Given the description of an element on the screen output the (x, y) to click on. 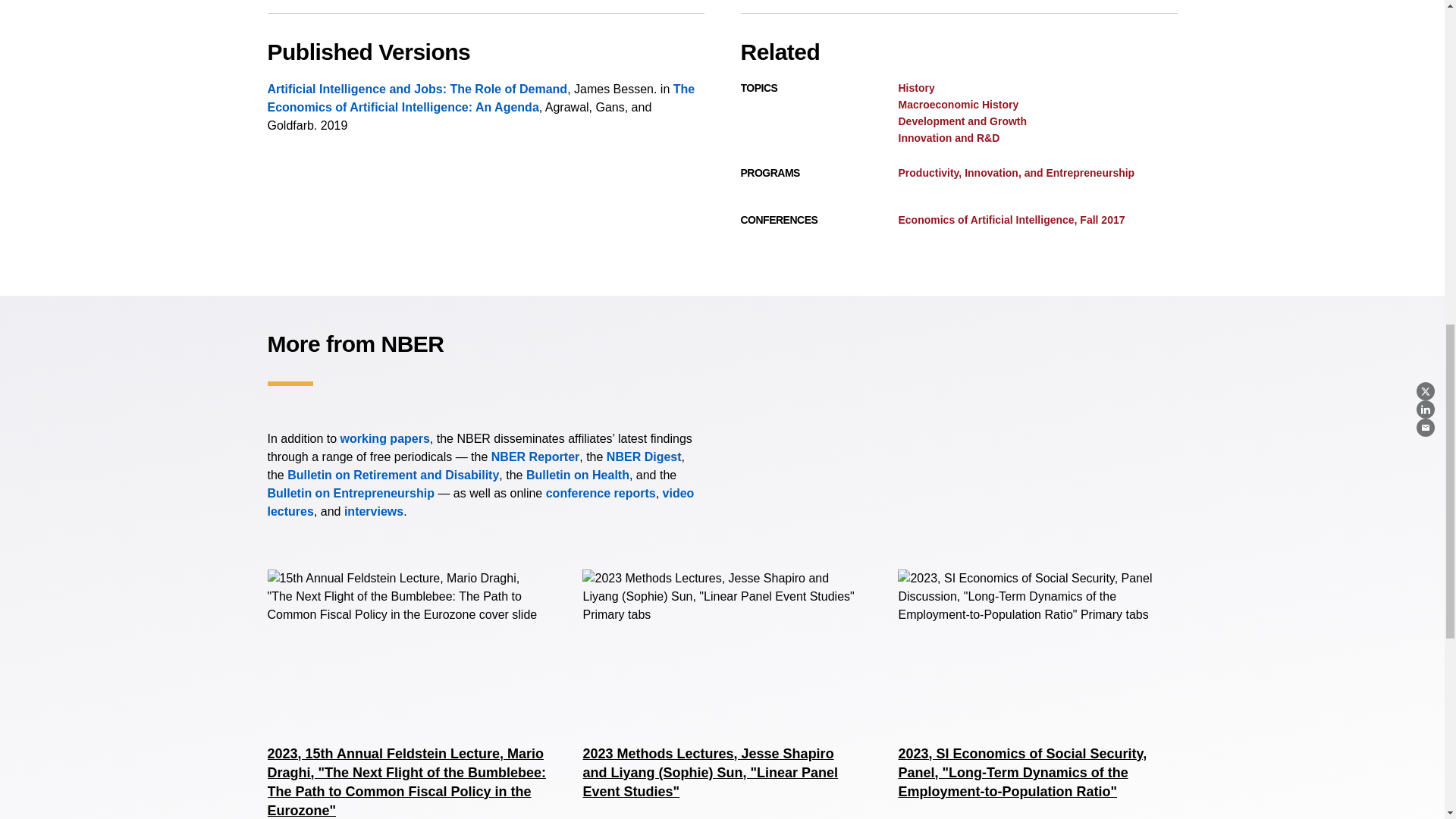
Research Spotlights (373, 511)
Working Papers (384, 438)
Conferences (601, 492)
Lectures (480, 501)
